Given the description of an element on the screen output the (x, y) to click on. 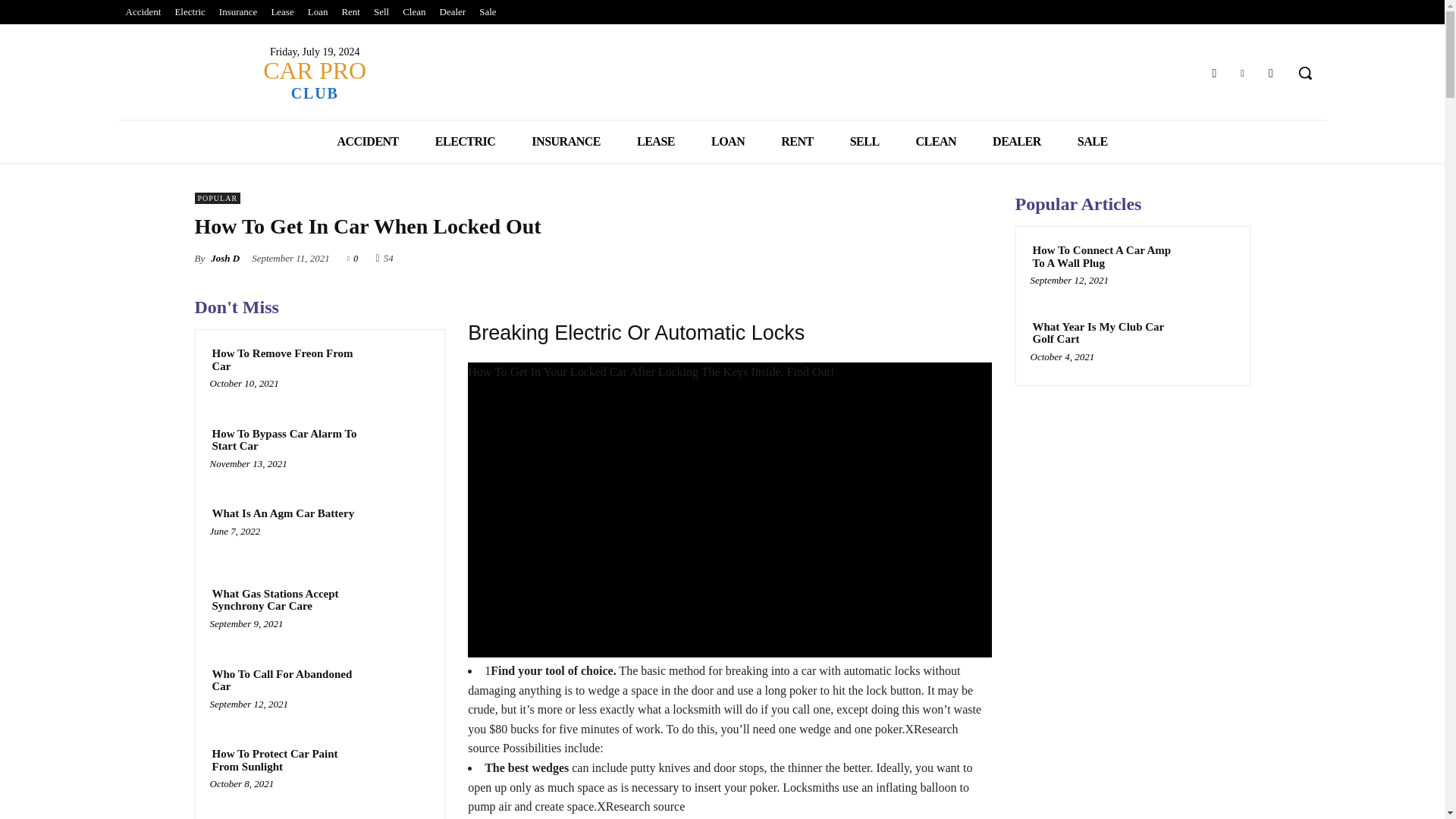
Sell (381, 12)
How To Remove Freon From Car (401, 372)
ELECTRIC (464, 141)
Dealer (452, 12)
Facebook (1214, 73)
Accident (142, 12)
Insurance (238, 12)
ACCIDENT (367, 141)
How To Bypass Car Alarm To Start Car (287, 439)
What Is An Agm Car Battery (282, 513)
Sale (486, 12)
What Gas Stations Accept Synchrony Car Care (287, 600)
Clean (414, 12)
Youtube (1270, 73)
Who To Call For Abandoned Car (401, 693)
